Given the description of an element on the screen output the (x, y) to click on. 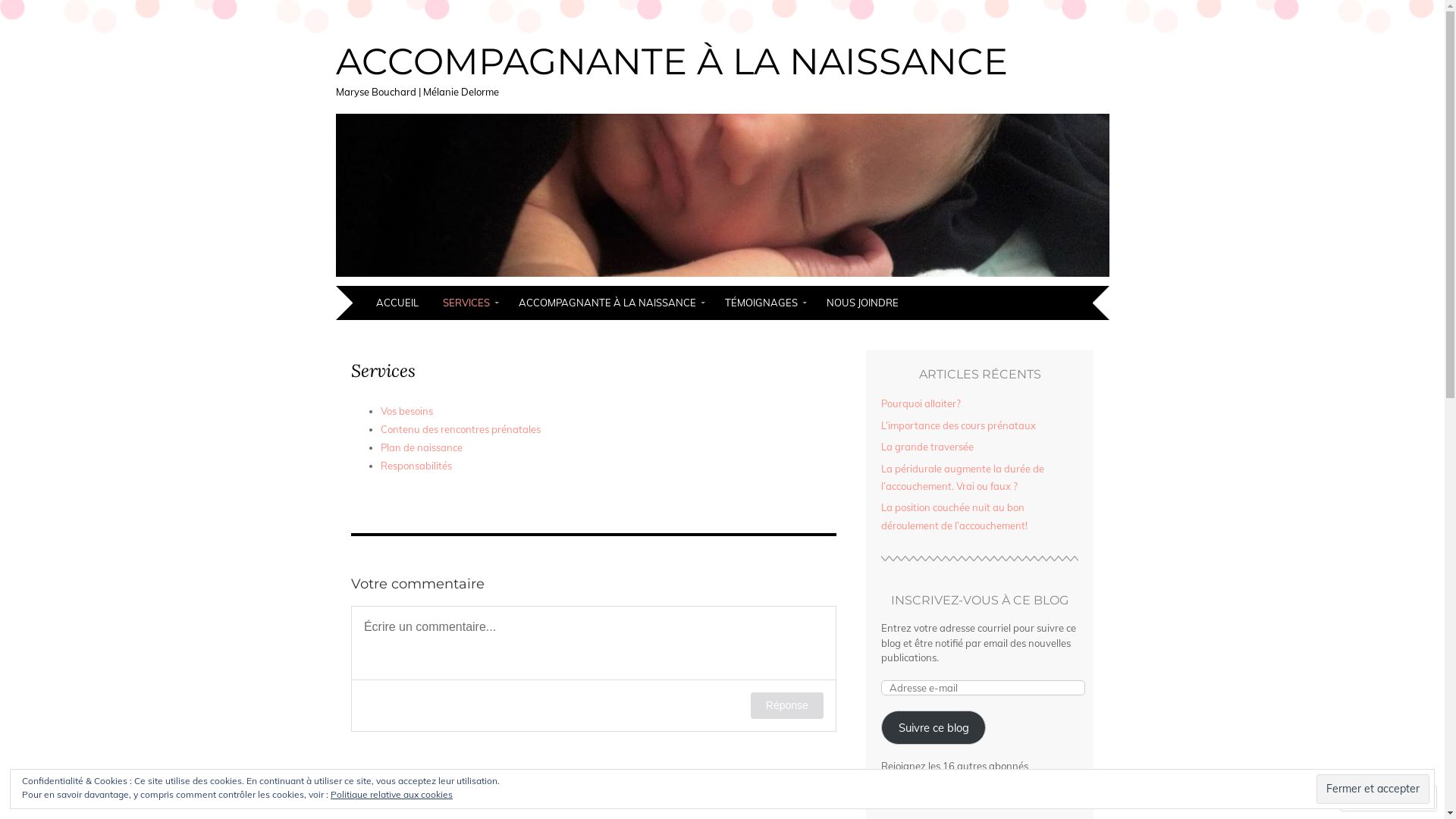
Fermer et accepter Element type: text (1372, 788)
Pourquoi allaiter? Element type: text (920, 403)
Plan de naissance Element type: text (421, 447)
ACCUEIL Element type: text (398, 302)
Suivre Element type: text (1374, 797)
Vos besoins Element type: text (406, 410)
SERVICES Element type: text (470, 302)
Politique relative aux cookies Element type: text (391, 794)
Suivre ce blog Element type: text (933, 727)
NOUS JOINDRE Element type: text (863, 302)
Aimer ou rebloguer Element type: hover (593, 515)
